Given the description of an element on the screen output the (x, y) to click on. 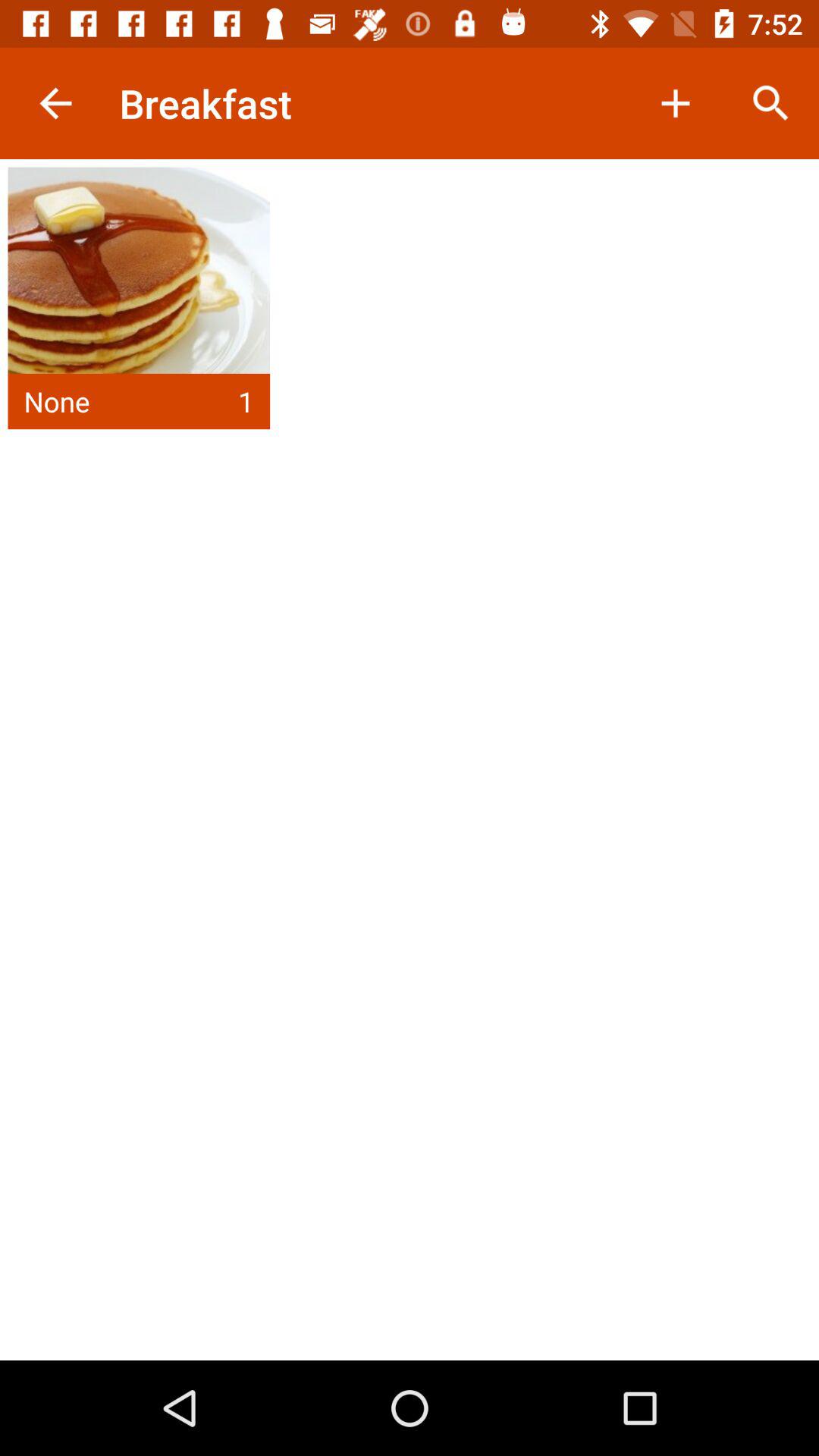
select the app to the right of breakfast app (675, 103)
